Given the description of an element on the screen output the (x, y) to click on. 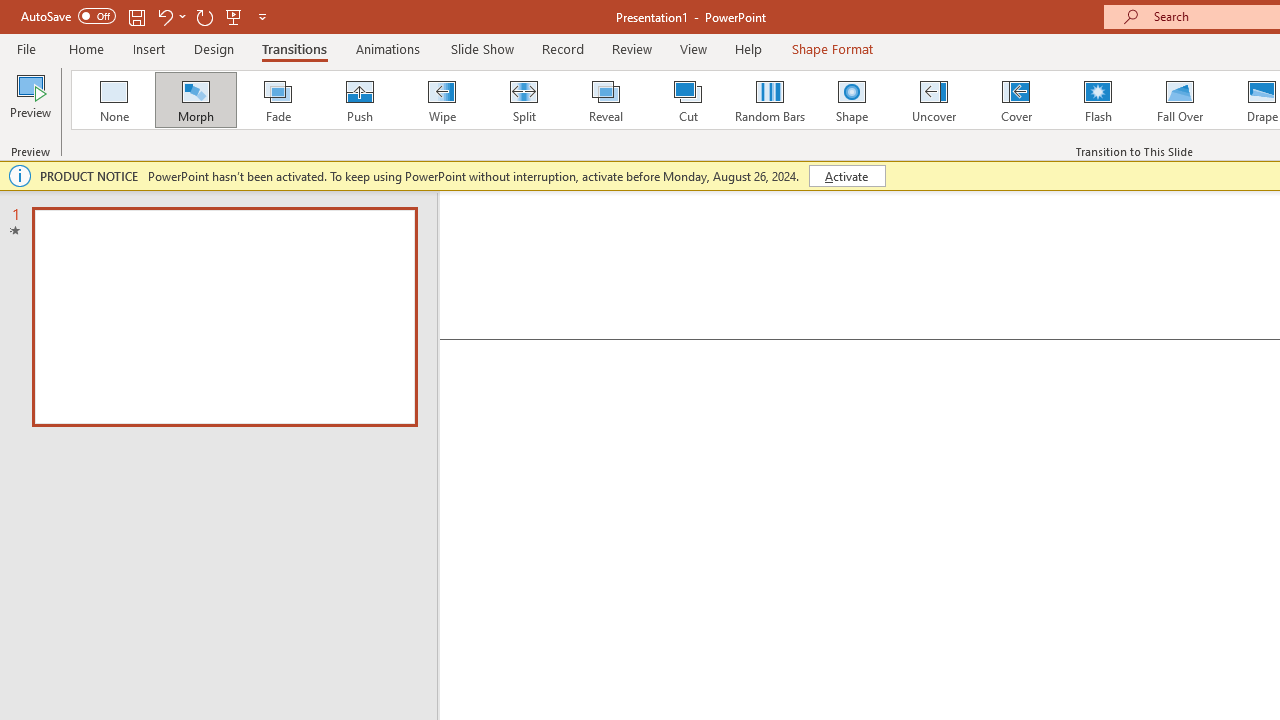
Reveal (605, 100)
Cover (1016, 100)
Morph (195, 100)
Fade (277, 100)
Push (359, 100)
Shape (852, 100)
Flash (1098, 100)
